Given the description of an element on the screen output the (x, y) to click on. 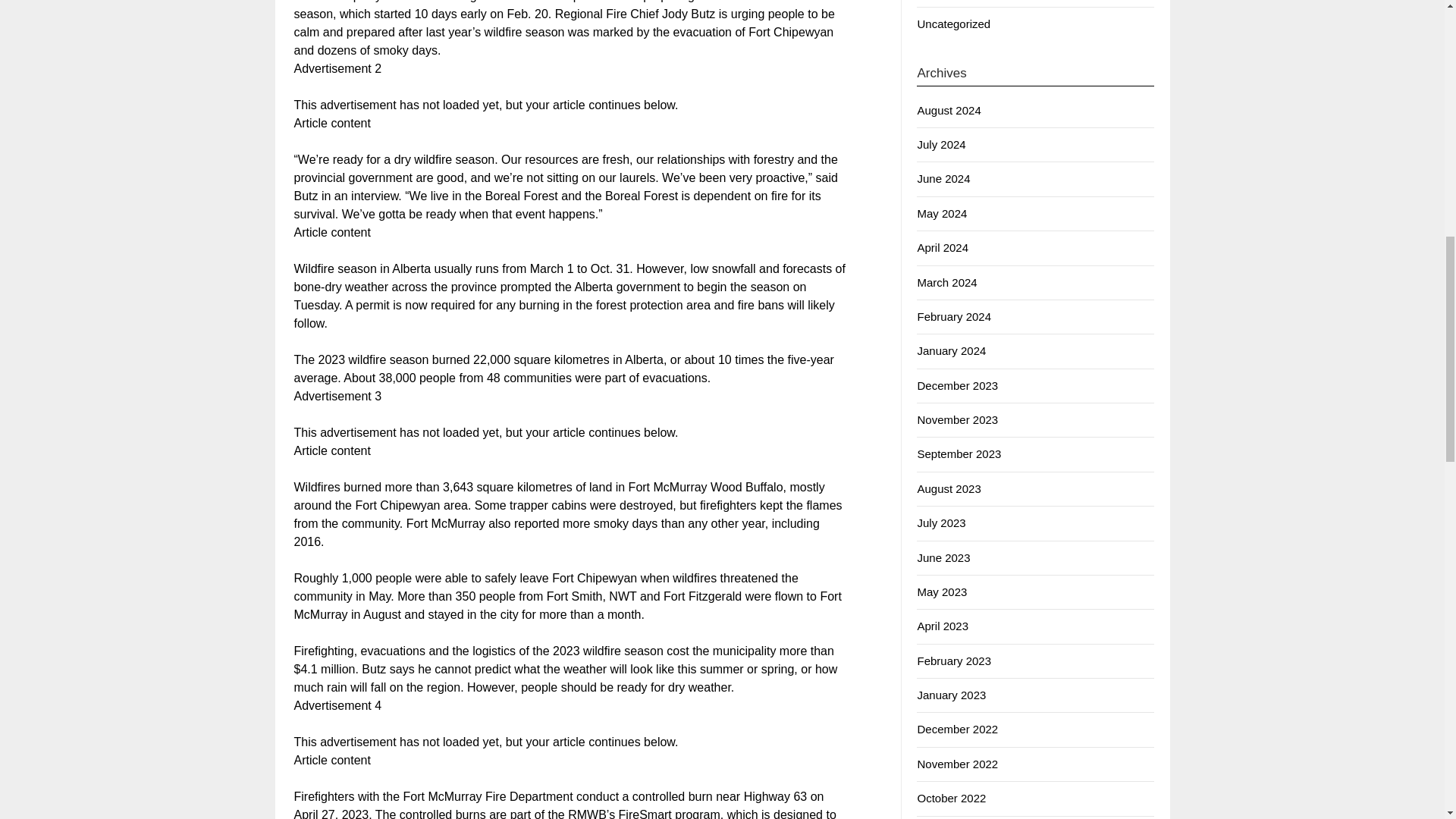
May 2024 (941, 213)
Uncategorized (953, 23)
April 2024 (942, 246)
March 2024 (946, 282)
February 2024 (954, 316)
June 2024 (943, 178)
December 2023 (957, 385)
July 2024 (941, 144)
January 2024 (951, 350)
August 2024 (948, 110)
